Given the description of an element on the screen output the (x, y) to click on. 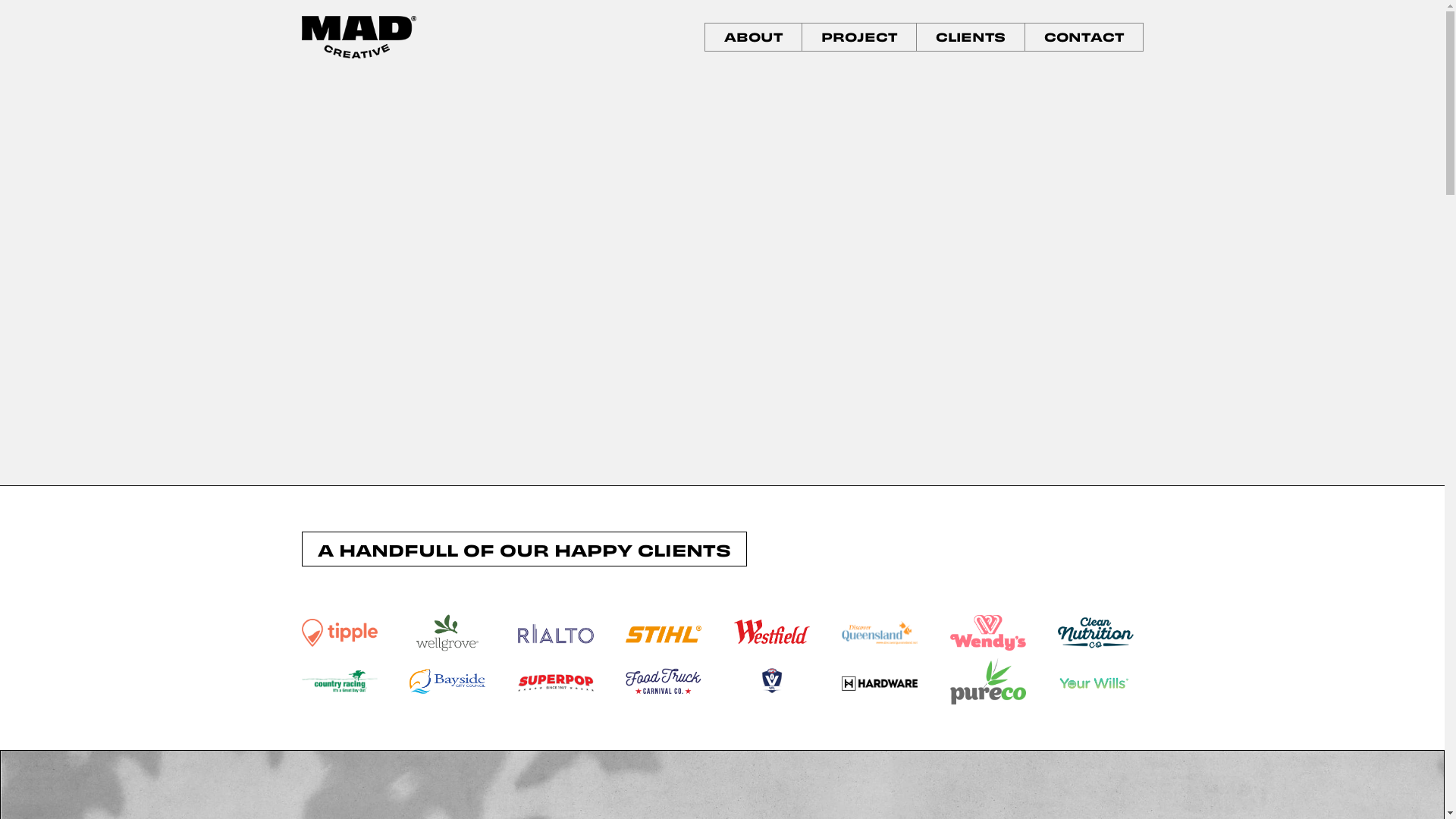
ABOUT Element type: text (753, 37)
PROJECT Element type: text (859, 37)
CLIENTS Element type: text (969, 37)
CONTACT Element type: text (1083, 37)
